Given the description of an element on the screen output the (x, y) to click on. 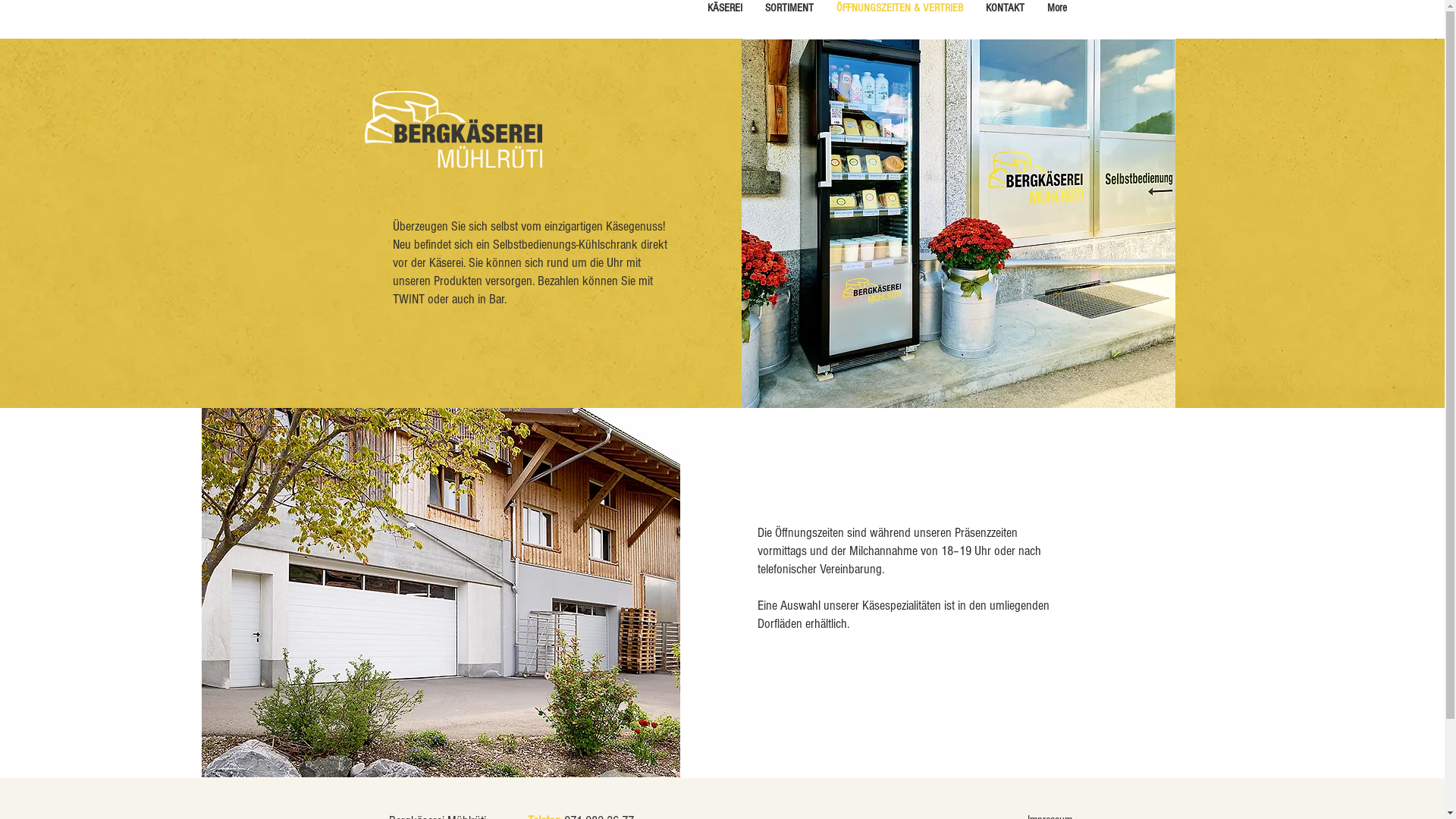
KONTAKT Element type: text (1004, 18)
SORTIMENT Element type: text (789, 18)
